Given the description of an element on the screen output the (x, y) to click on. 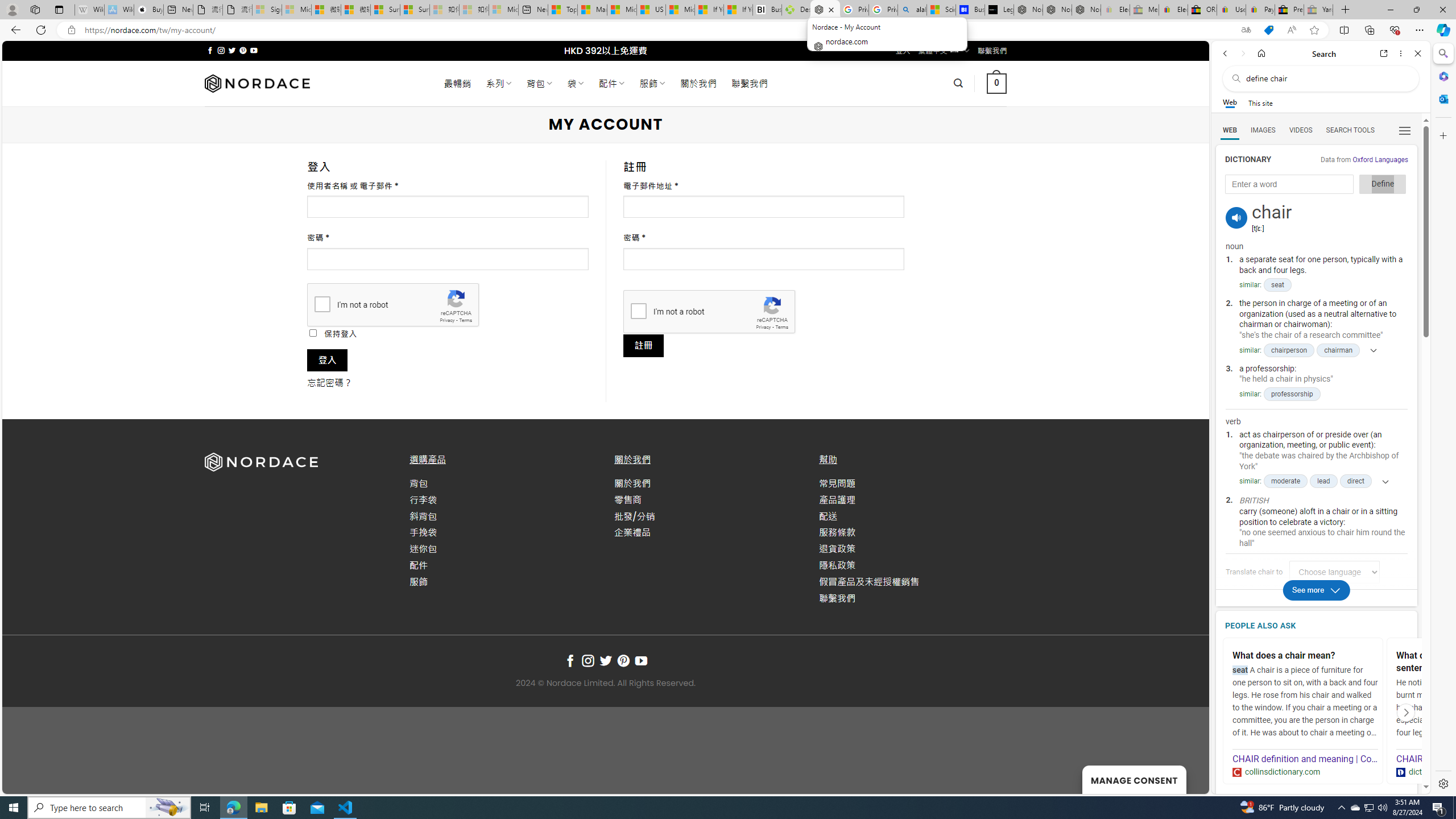
chairperson (1288, 350)
pronounce (1236, 217)
